Given the description of an element on the screen output the (x, y) to click on. 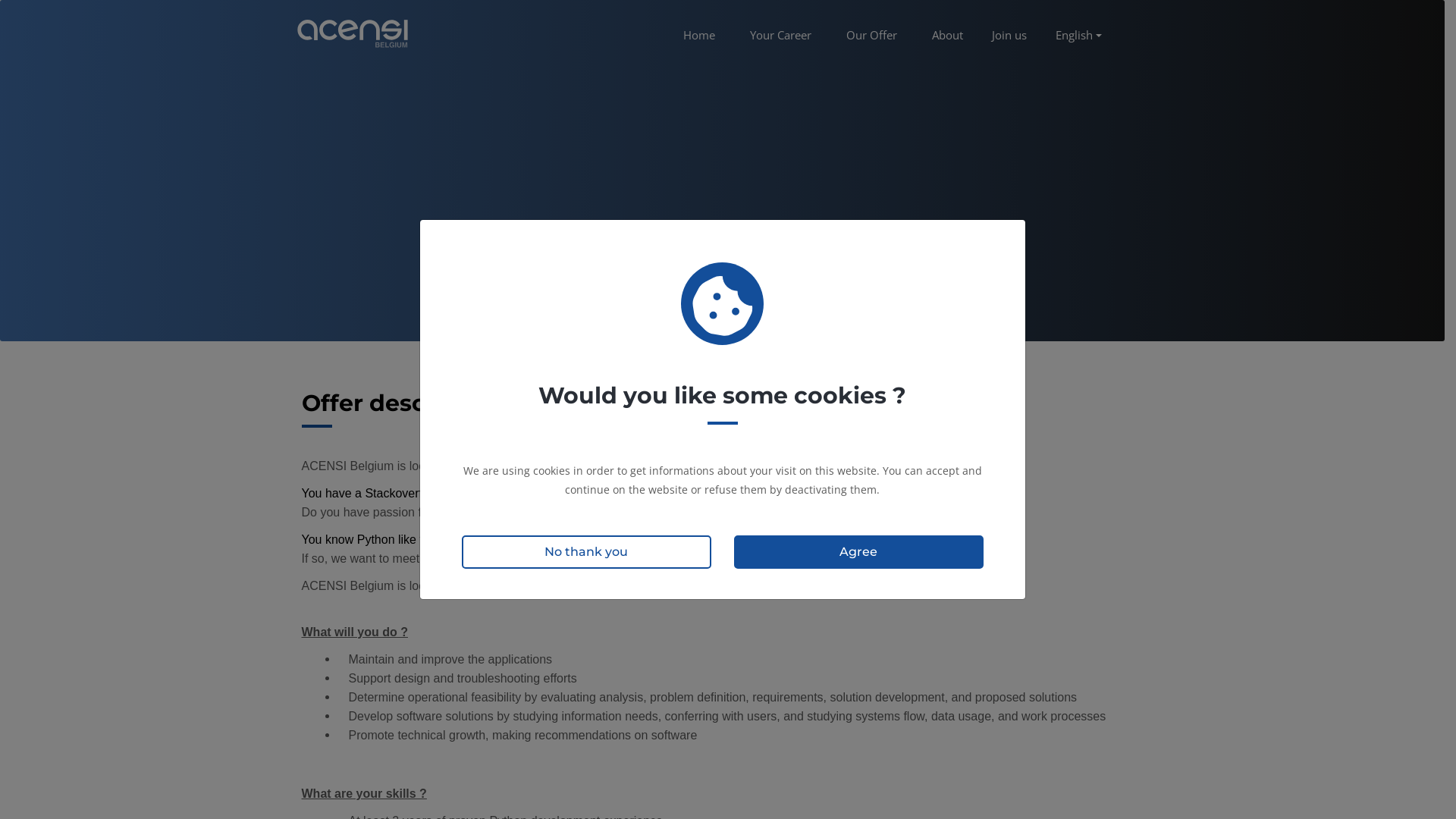
Your Career Element type: text (780, 33)
English Element type: text (1078, 34)
No thank you Element type: text (585, 551)
Our Offer Element type: text (871, 33)
Join us Element type: text (1008, 33)
Agree Element type: text (858, 551)
About Element type: text (947, 33)
Home Element type: text (699, 33)
